Given the description of an element on the screen output the (x, y) to click on. 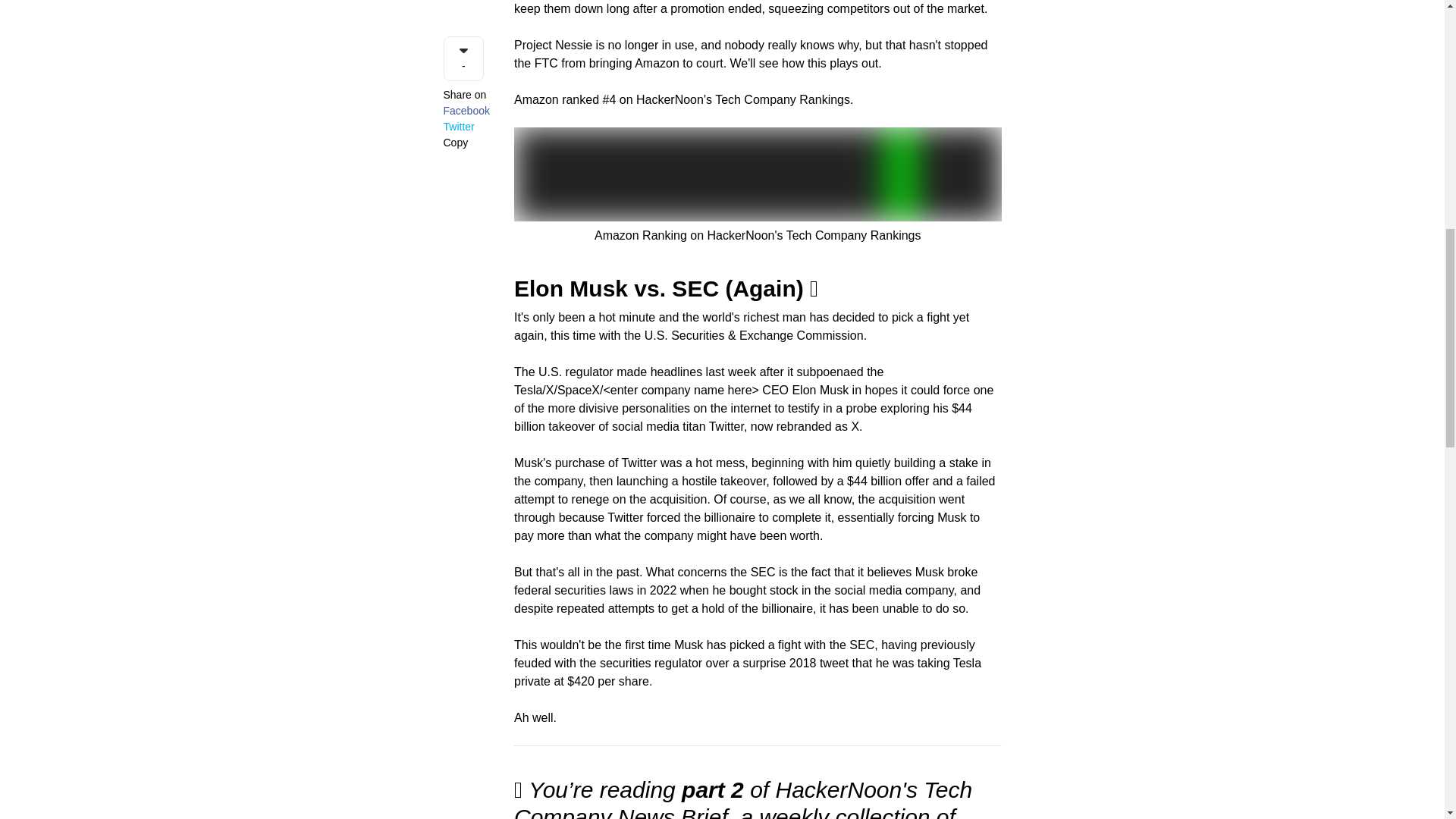
Tesla (527, 390)
enter company name here (681, 390)
believes (889, 571)
pick a fight (920, 317)
Tech Company Rankings (782, 99)
X (550, 390)
